Given the description of an element on the screen output the (x, y) to click on. 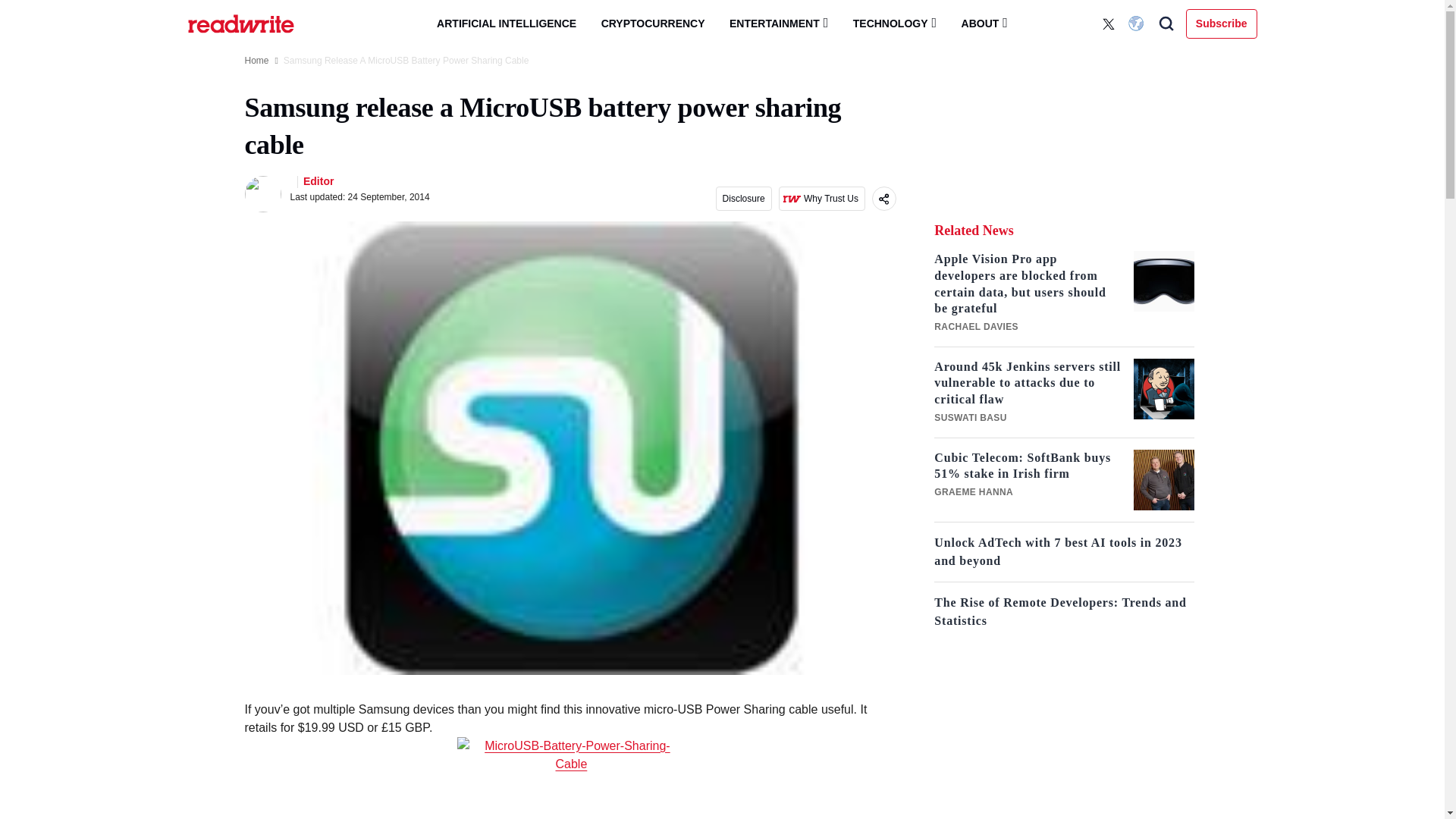
English (1137, 23)
ARTIFICIAL INTELLIGENCE (506, 23)
Home (255, 60)
Subscribe (1221, 23)
TECHNOLOGY (895, 23)
ABOUT (983, 23)
ENTERTAINMENT (778, 23)
CRYPTOCURRENCY (653, 23)
